Given the description of an element on the screen output the (x, y) to click on. 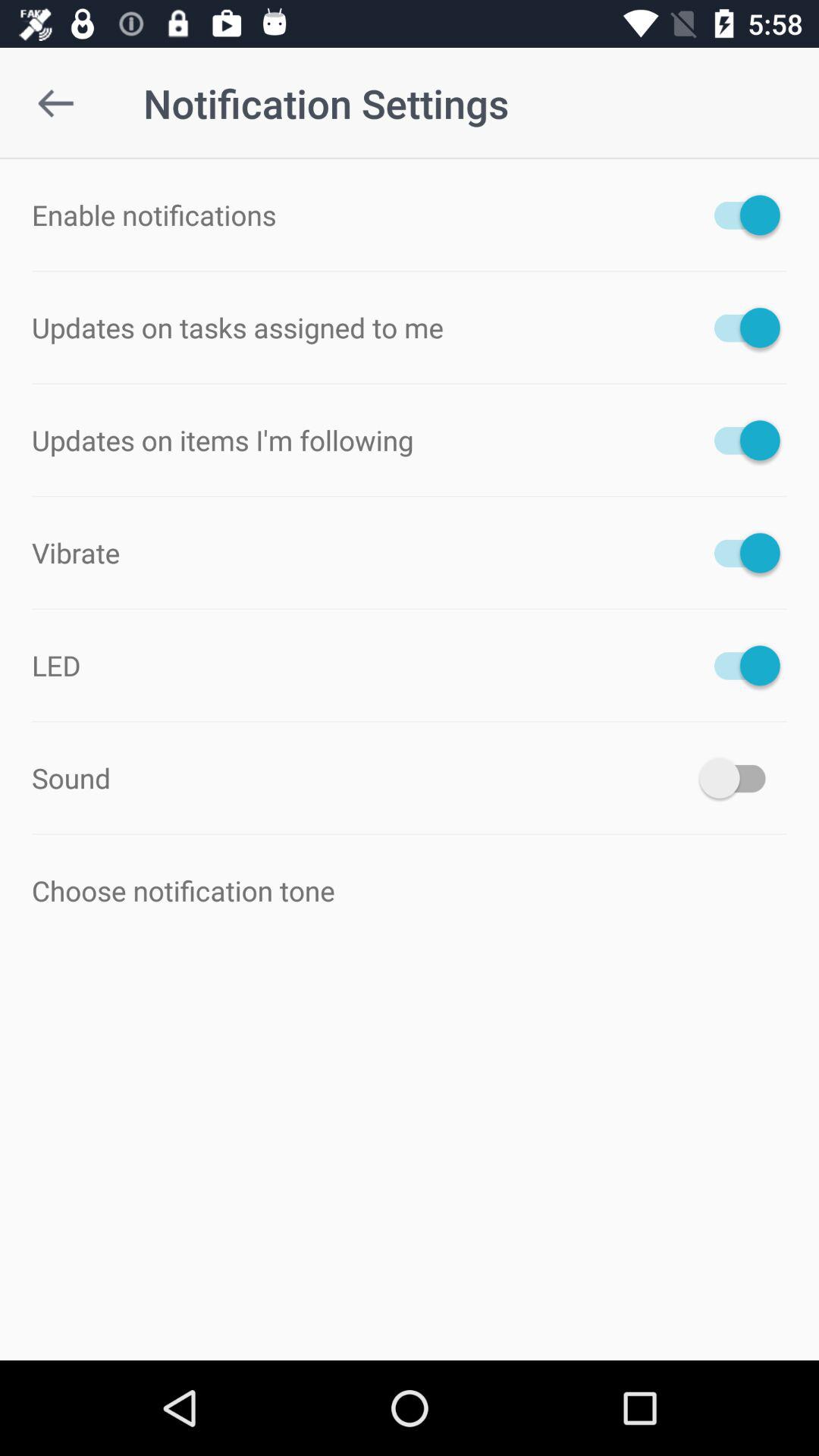
choose icon to the right of updates on items (739, 439)
